Given the description of an element on the screen output the (x, y) to click on. 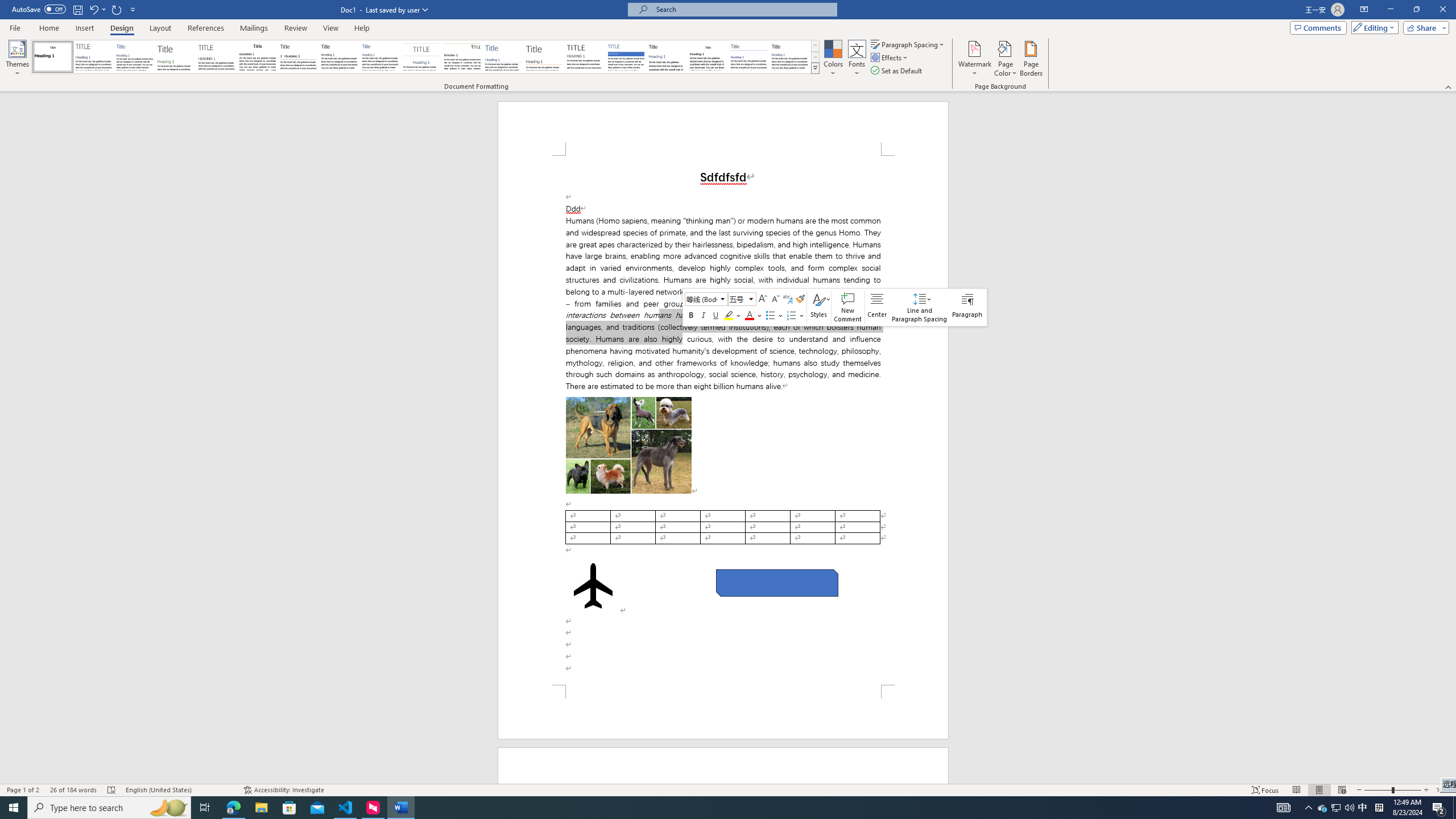
Page Number Page 1 of 2 (22, 790)
Lines (Stylish) (544, 56)
Page Color (1005, 58)
Airplane with solid fill (593, 585)
Themes (17, 58)
Class: MsoCommandBar (728, 789)
Black & White (Classic) (257, 56)
